Given the description of an element on the screen output the (x, y) to click on. 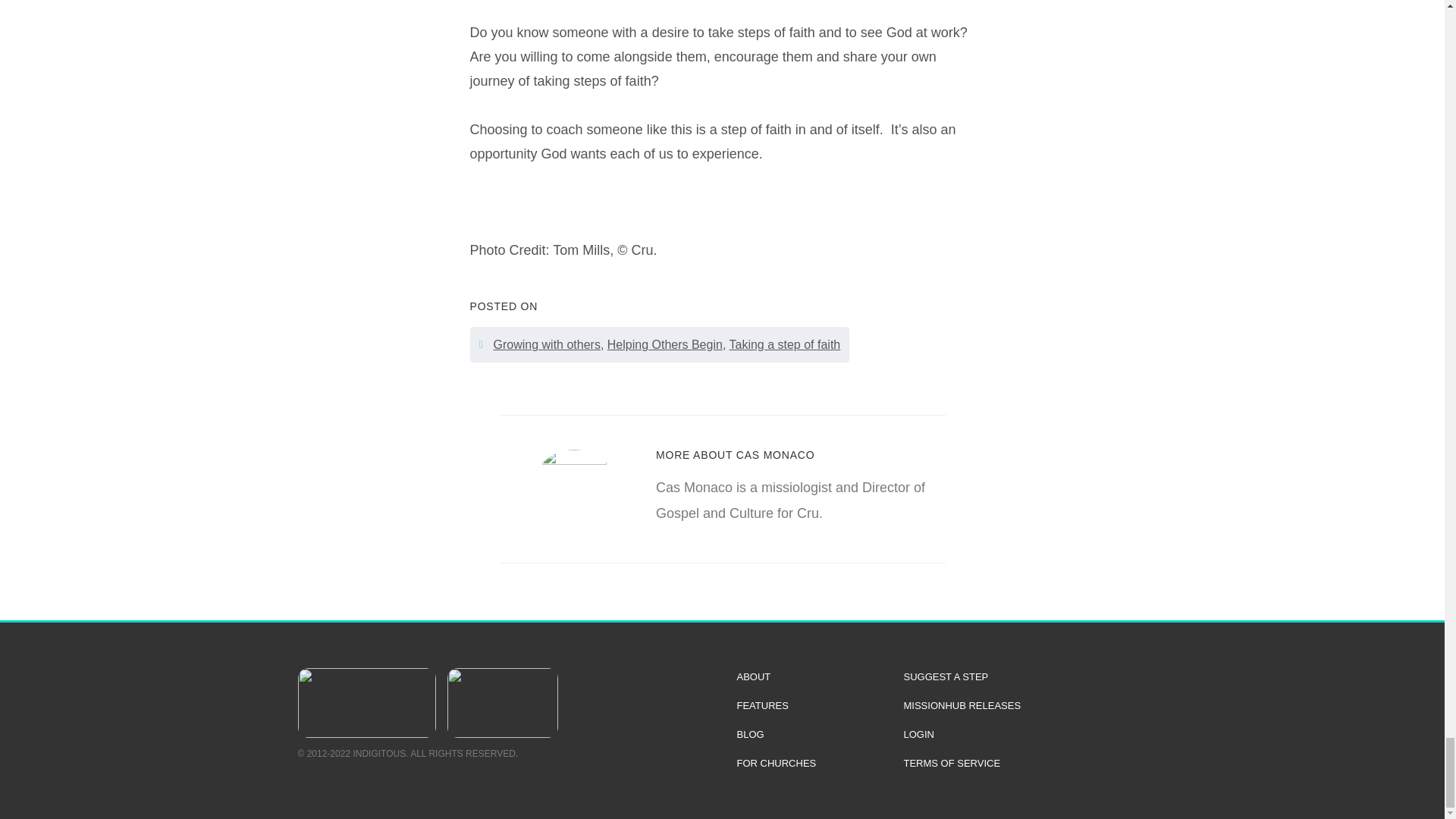
Helping Others Begin (664, 344)
BLOG (812, 734)
Growing with others (546, 344)
SUGGEST A STEP (1021, 677)
LOGIN (1021, 734)
MISSIONHUB RELEASES (1021, 705)
ABOUT (812, 677)
FEATURES (812, 705)
FOR CHURCHES (812, 763)
TERMS OF SERVICE (1021, 763)
